Given the description of an element on the screen output the (x, y) to click on. 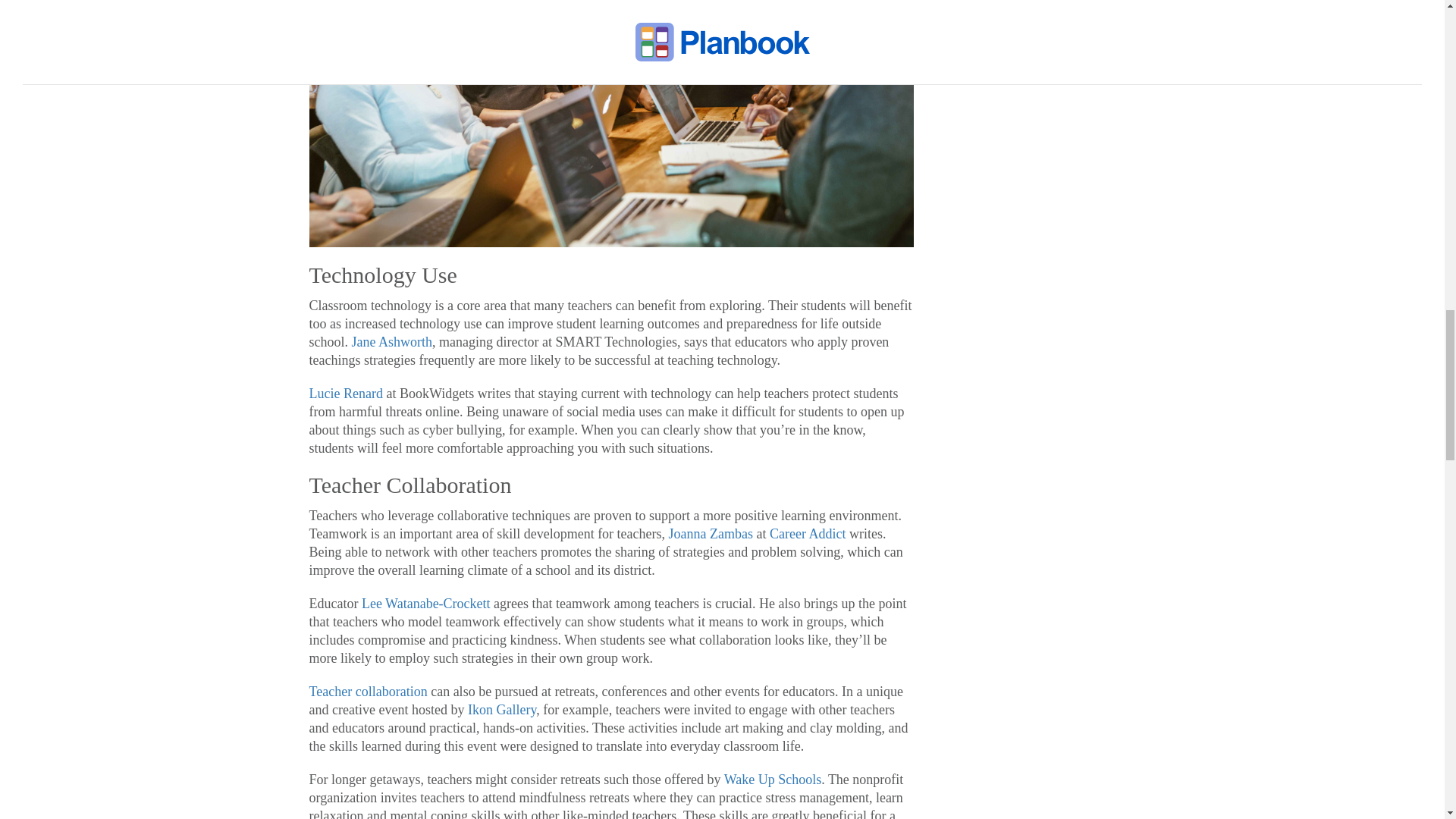
Lee Watanabe-Crockett (425, 603)
Jane Ashworth (392, 341)
Joanna Zambas (710, 533)
Wake Up Schools (772, 779)
Lucie Renard (345, 393)
Ikon Gallery (501, 709)
Career Addict (807, 533)
Teacher collaboration (368, 691)
